Given the description of an element on the screen output the (x, y) to click on. 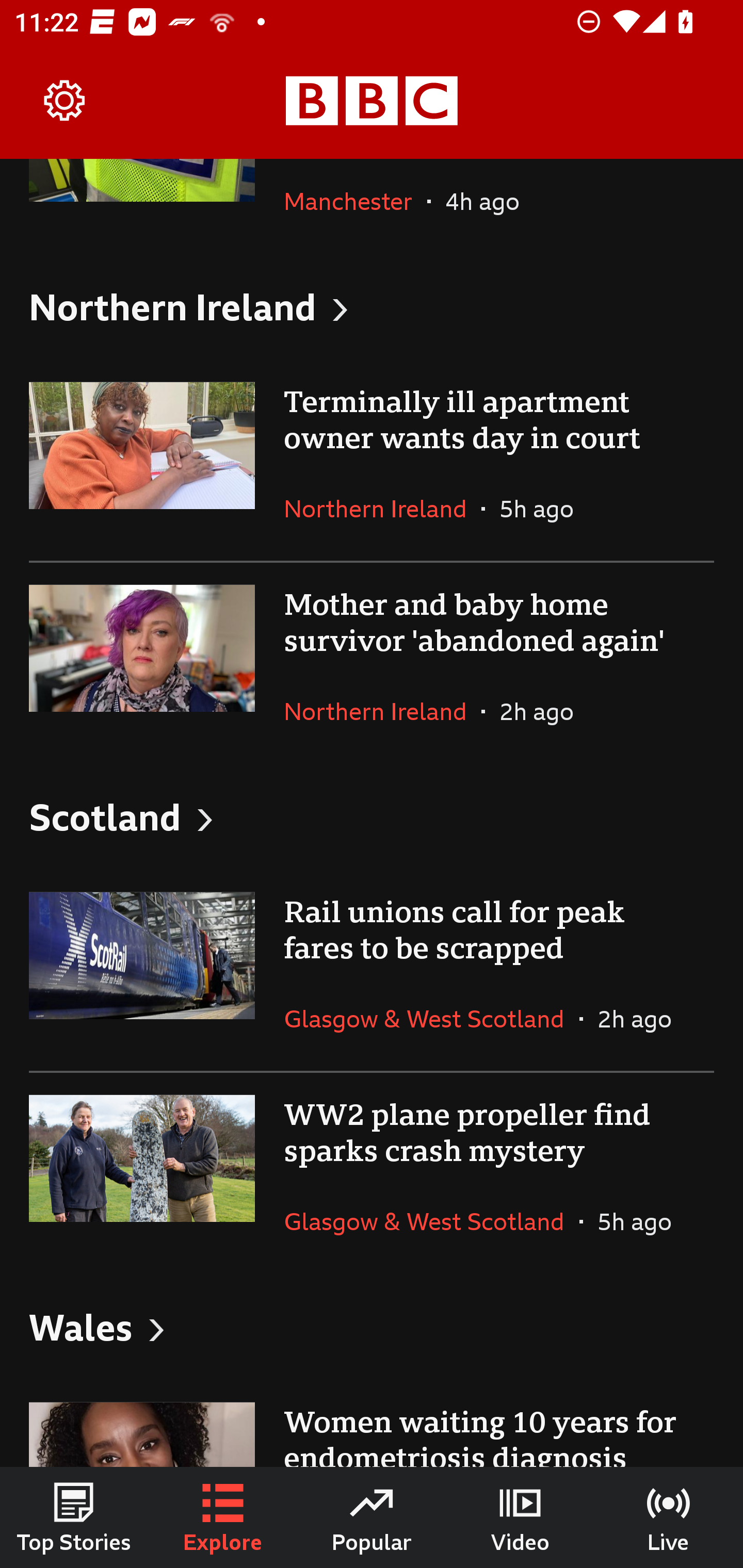
Settings (64, 100)
Manchester In the section Manchester (355, 206)
Northern Ireland, Heading Northern Ireland    (371, 307)
Northern Ireland In the section Northern Ireland (382, 508)
Northern Ireland In the section Northern Ireland (382, 710)
Scotland, Heading Scotland    (371, 816)
Wales, Heading Wales    (371, 1326)
Women waiting 10 years for endometriosis diagnosis (371, 1423)
Top Stories (74, 1517)
Popular (371, 1517)
Video (519, 1517)
Live (668, 1517)
